Given the description of an element on the screen output the (x, y) to click on. 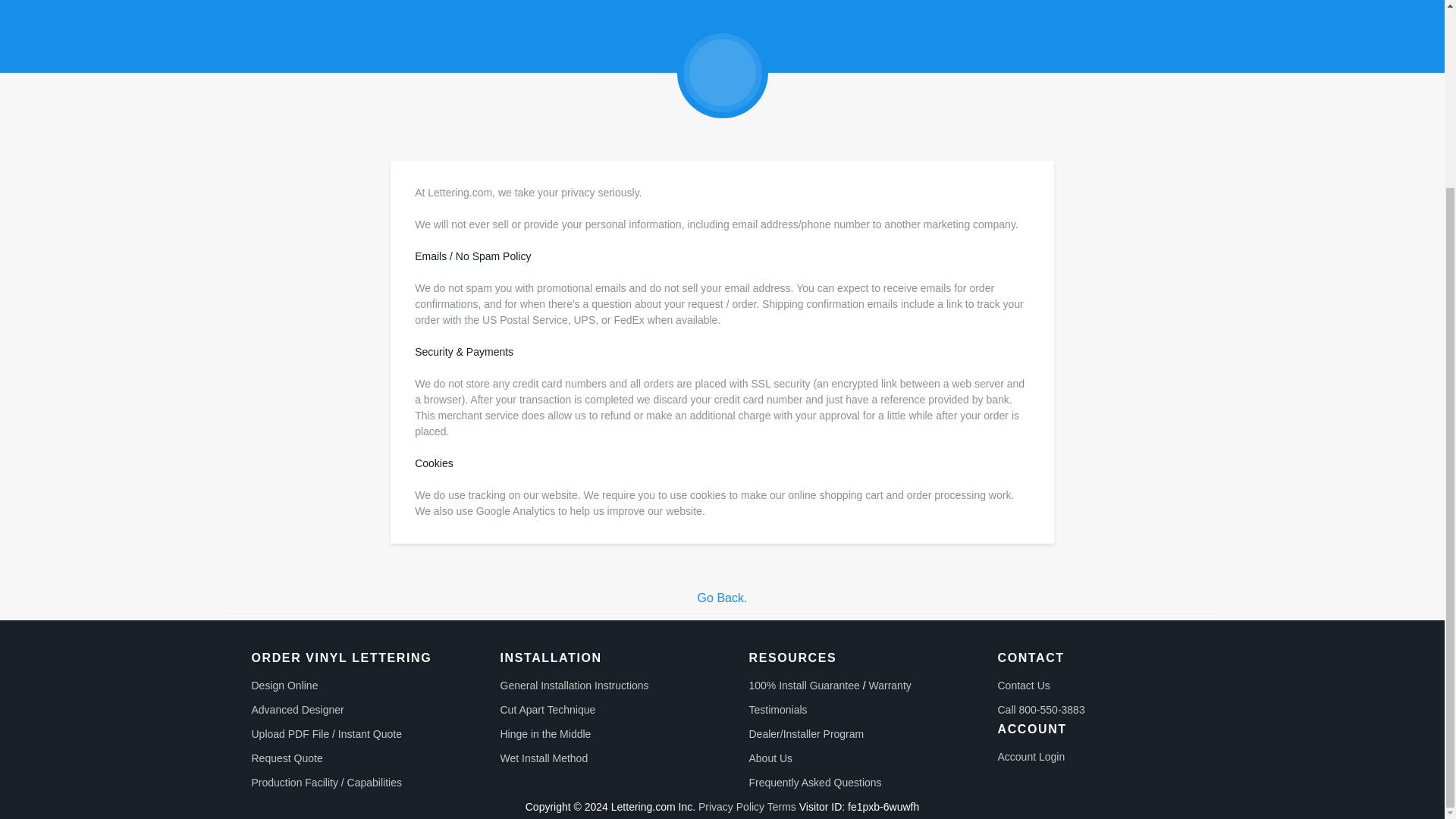
Testimonials (778, 709)
Account Login (1031, 756)
About Us (771, 758)
Cut Apart Technique (547, 709)
Advanced Designer (297, 709)
Wet Install Method (544, 758)
Request Quote (287, 758)
General Installation Instructions (574, 685)
Terms (781, 806)
Design Online (284, 685)
